Given the description of an element on the screen output the (x, y) to click on. 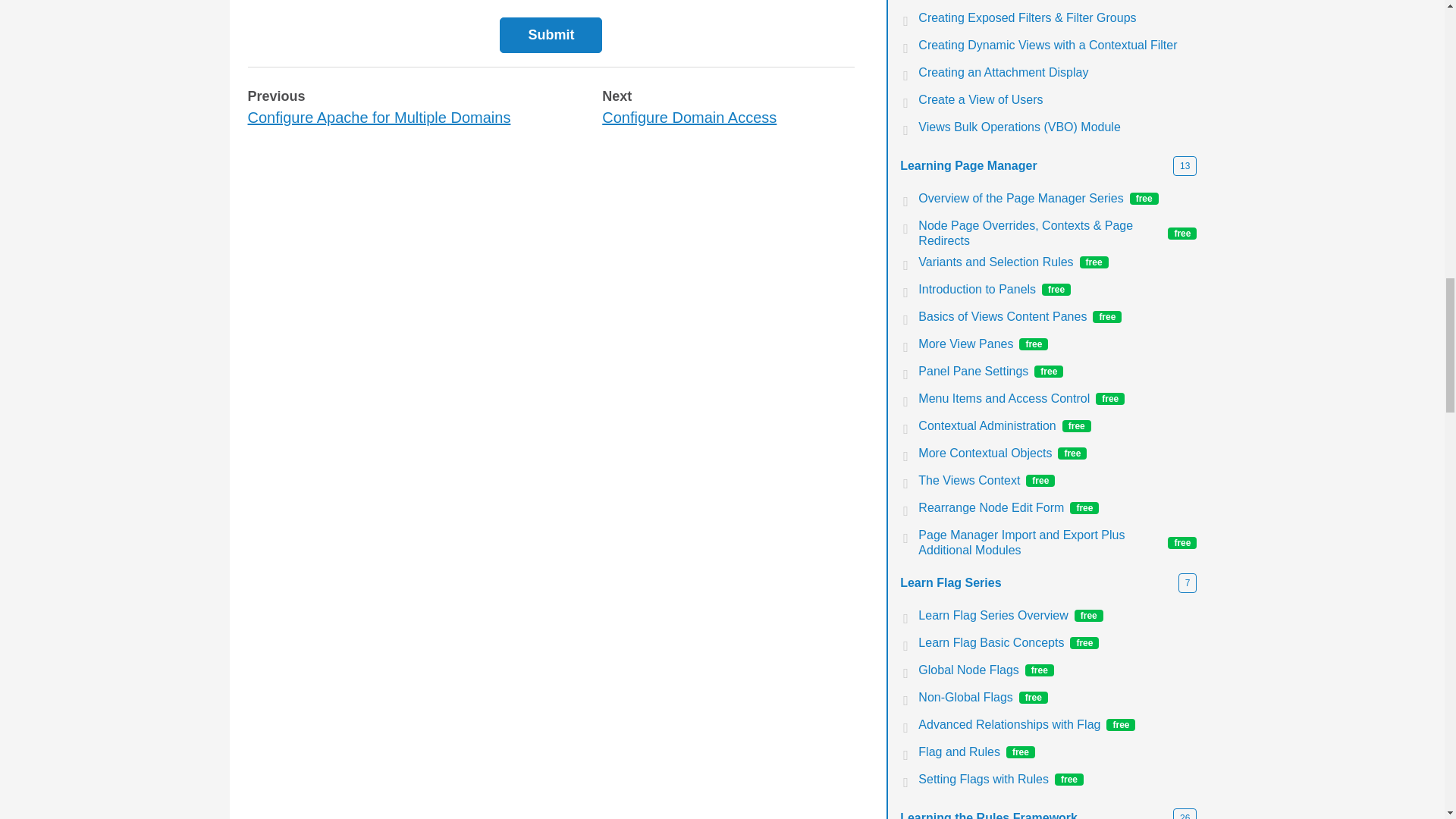
Configure Domain Access (689, 117)
Configure Apache for Multiple Domains (379, 117)
Submit (550, 35)
Submit (550, 35)
